Given the description of an element on the screen output the (x, y) to click on. 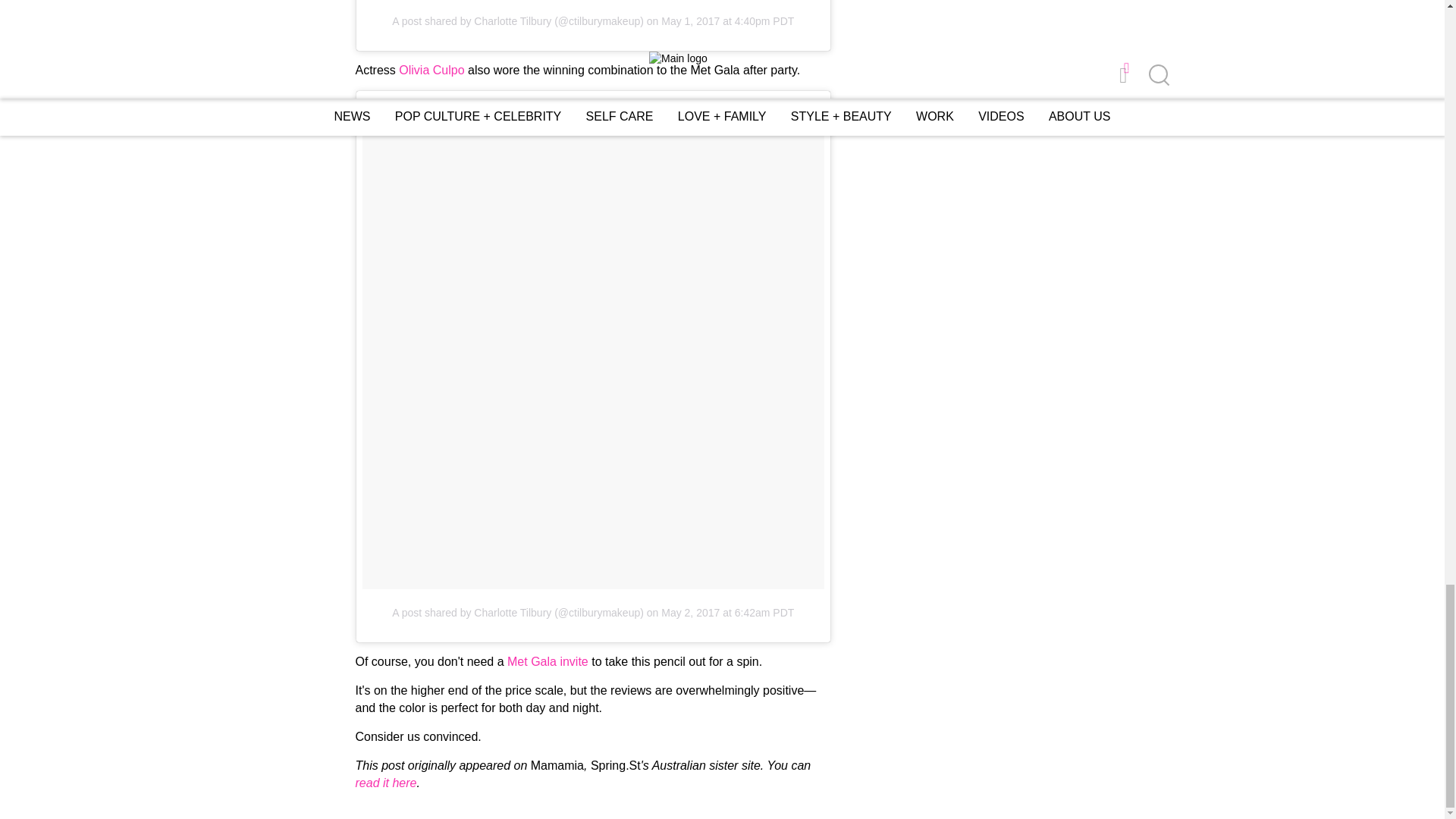
Met Gala invite (547, 661)
Olivia Culpo (431, 69)
read it here (385, 782)
